Given the description of an element on the screen output the (x, y) to click on. 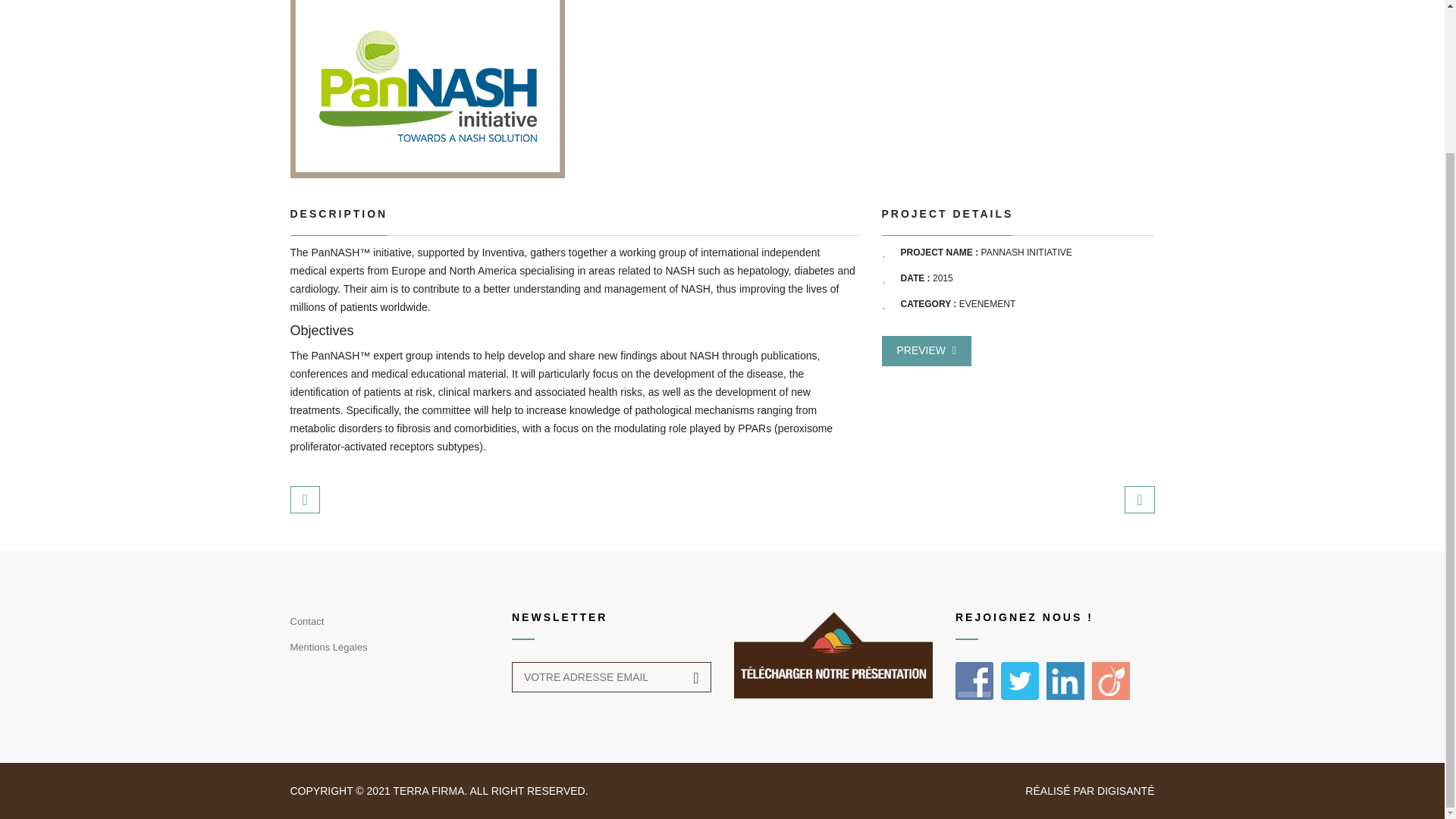
PREVIEW (925, 350)
Suivez nous sur Facebook (973, 680)
Contact (306, 623)
Suivez nous sur Twitter (1020, 680)
Suivez nous sur Linkedin (1065, 680)
